Given the description of an element on the screen output the (x, y) to click on. 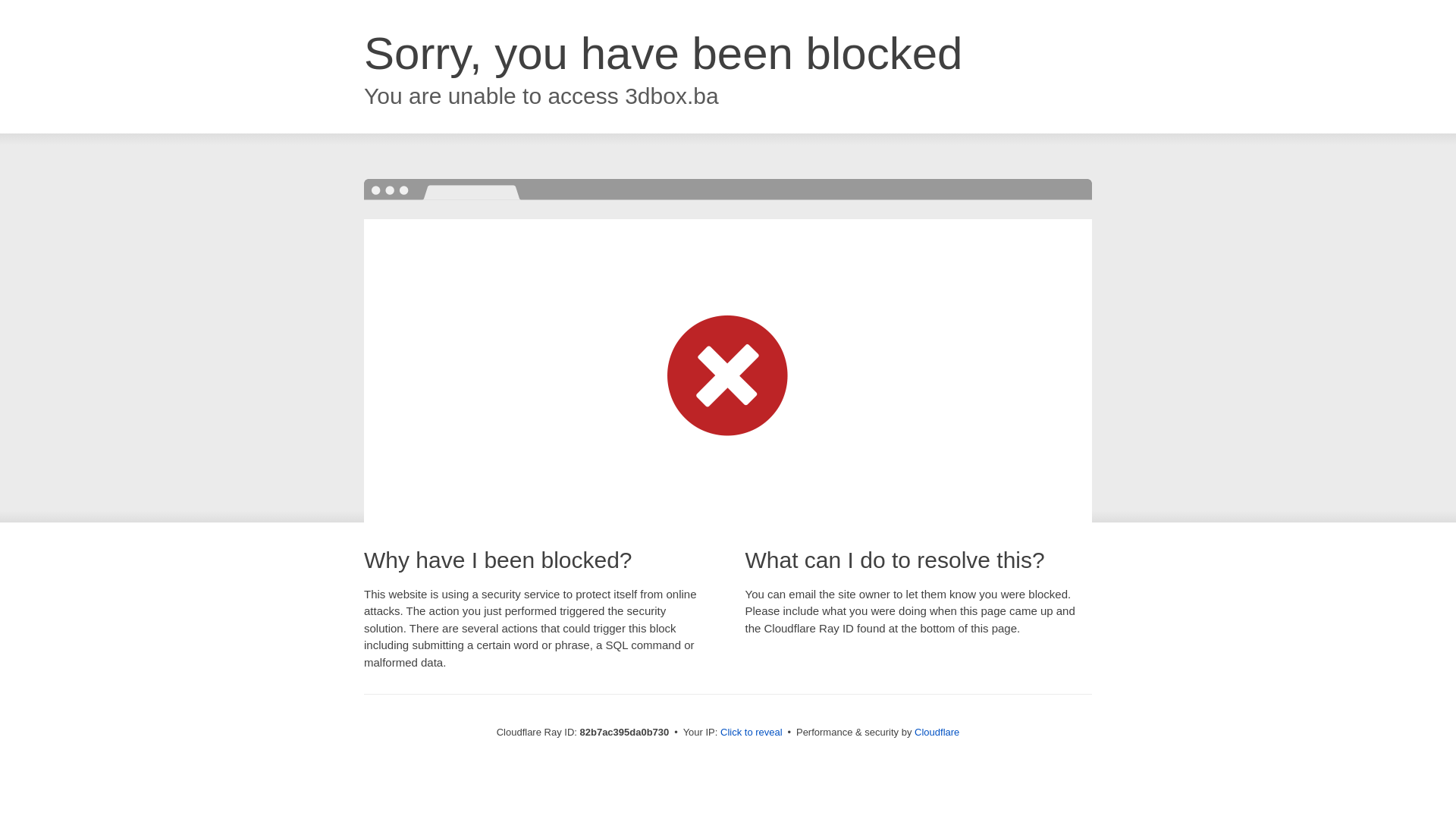
Click to reveal Element type: text (751, 732)
Cloudflare Element type: text (936, 731)
